Given the description of an element on the screen output the (x, y) to click on. 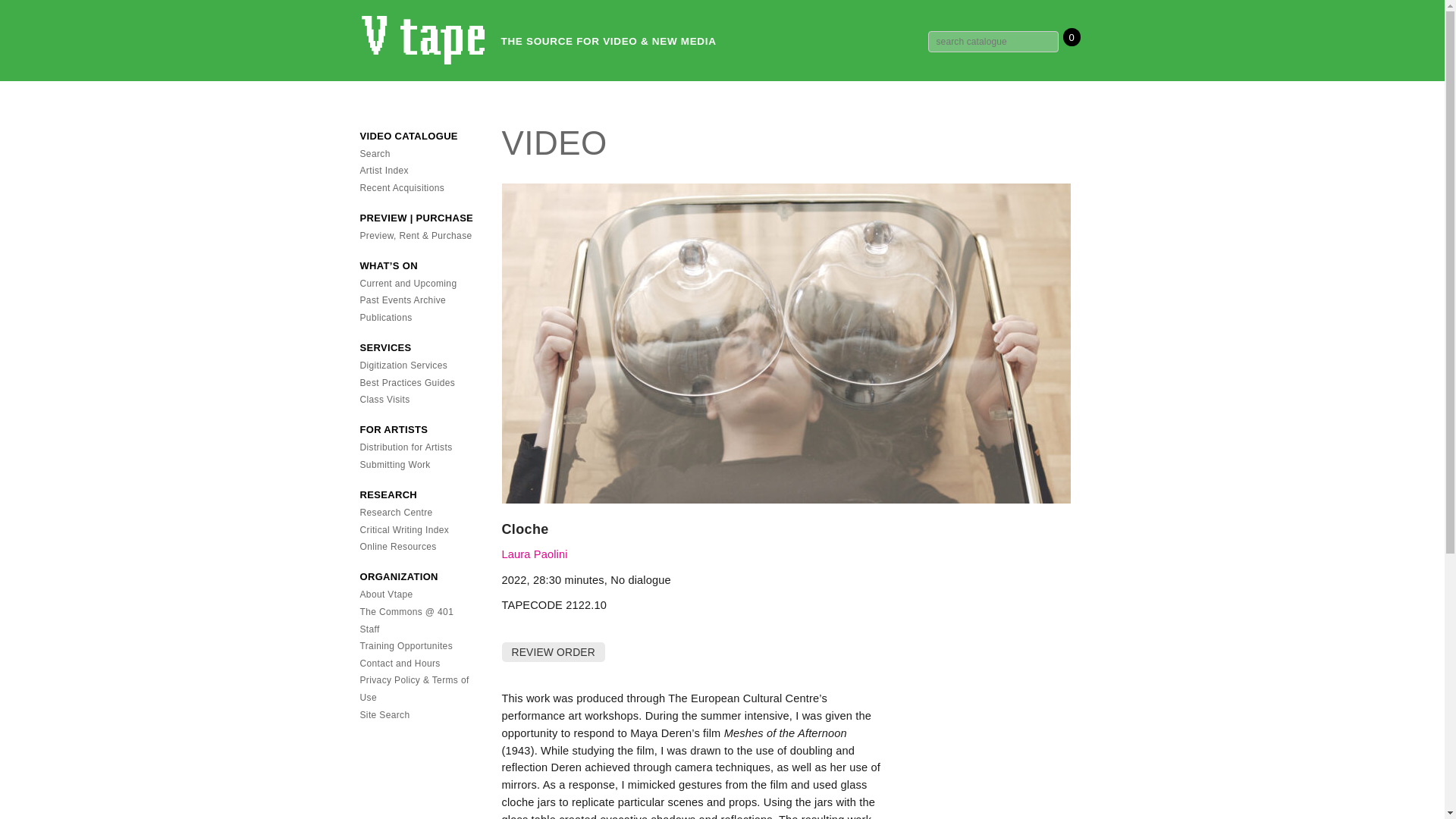
REVIEW ORDER (553, 651)
Search catalogue: (993, 41)
Critical Writing Index Search (403, 529)
Recent Acquisitions (401, 187)
Search (374, 153)
Artist Index (383, 170)
View requested items (552, 652)
Laura Paolini (534, 553)
